Given the description of an element on the screen output the (x, y) to click on. 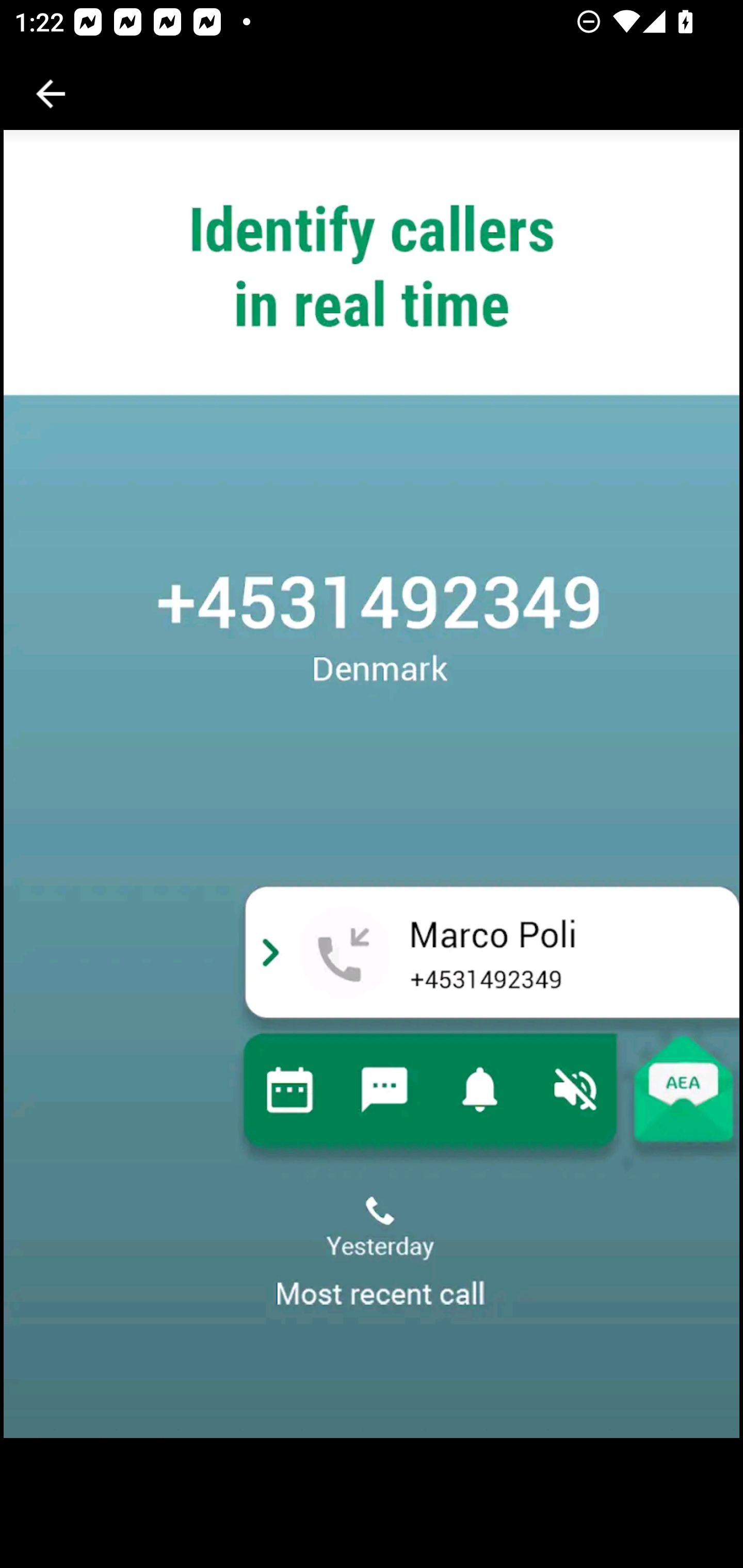
Back (50, 93)
